Given the description of an element on the screen output the (x, y) to click on. 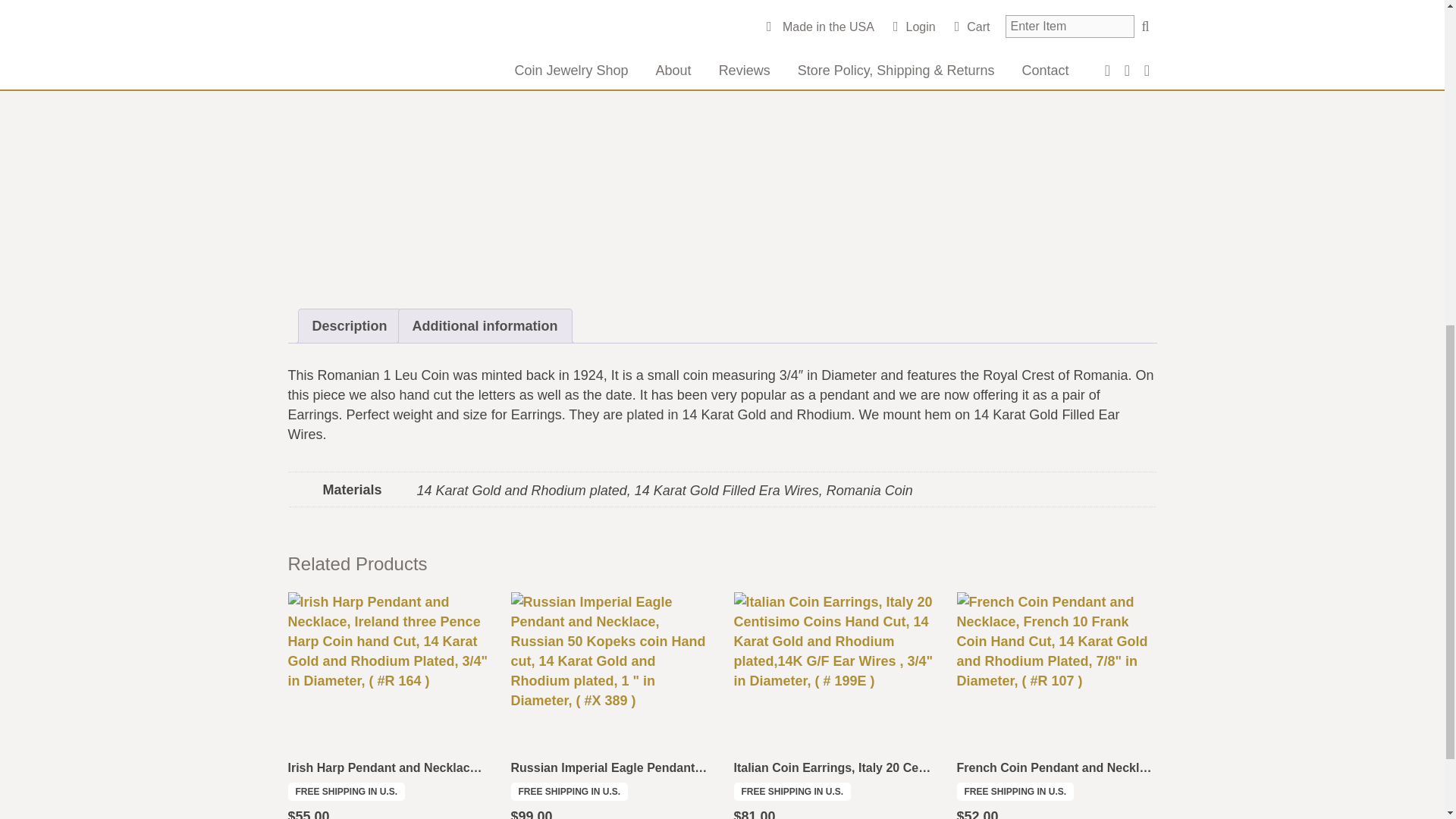
Coin Earrings (735, 11)
Romania Coin Jewelry (914, 11)
Romanian Earrings (846, 30)
Romania Jewelry (743, 30)
Romania Gift item (911, 20)
Romania Earrings (1029, 11)
Romanian Jewelry (954, 30)
Coin Jewelry (812, 11)
Ethnic Coins (756, 0)
